Given the description of an element on the screen output the (x, y) to click on. 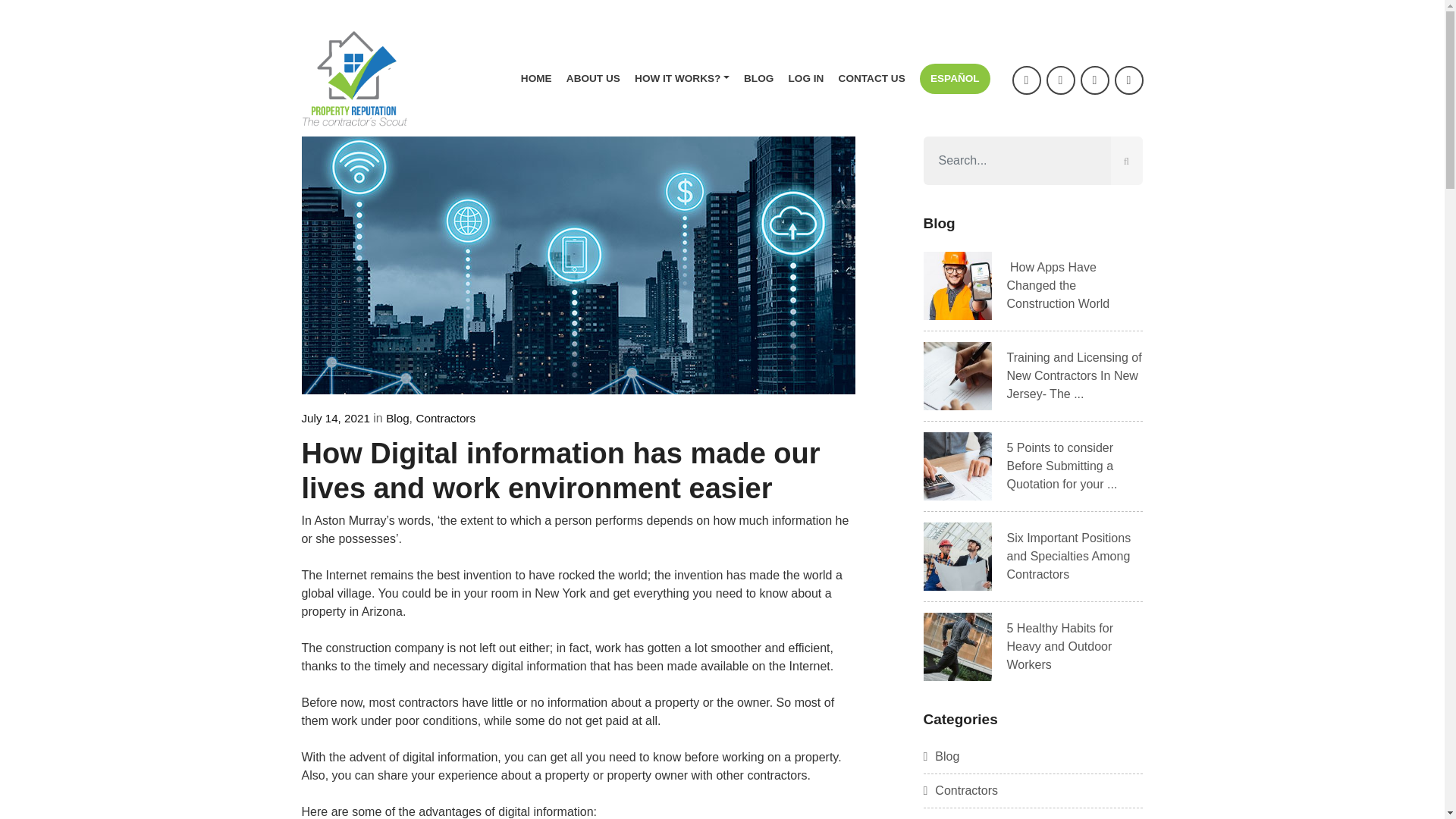
July 14, 2021 (335, 418)
HOW IT WORKS? (681, 79)
Contractors (445, 418)
BLOG (758, 79)
Facebook (1026, 80)
Blog (941, 756)
HOME (536, 79)
CONTACT US (871, 79)
Contractors (960, 789)
 How Apps Have Changed the Construction World (1058, 285)
5 Healthy Habits for Heavy and Outdoor Workers (1060, 645)
Blog (397, 418)
LOG IN (806, 79)
